Given the description of an element on the screen output the (x, y) to click on. 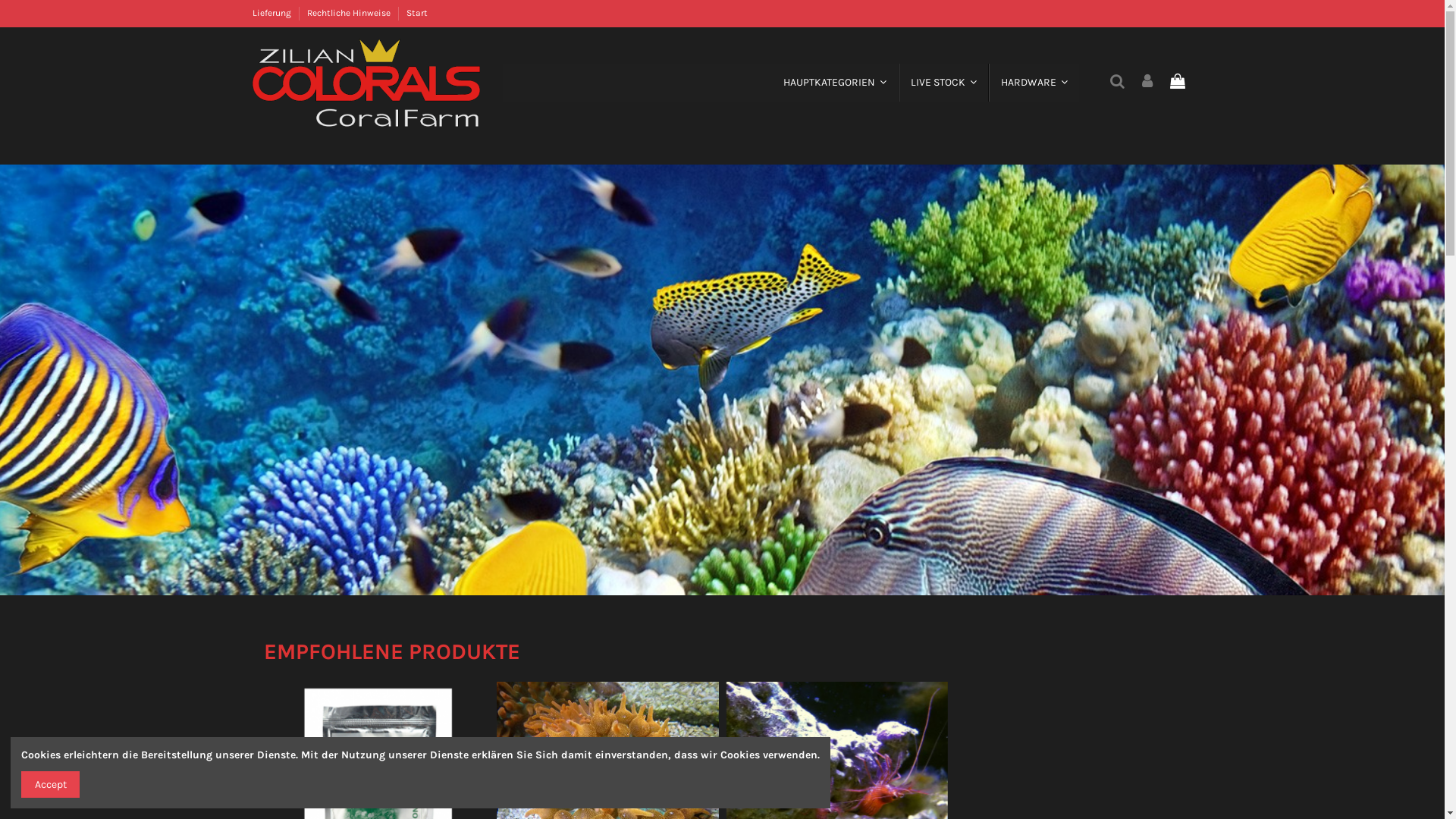
Lieferung Element type: text (271, 12)
Accept Element type: text (50, 784)
LIVE STOCK Element type: text (942, 82)
HARDWARE Element type: text (1033, 82)
Anmelden zu Ihrem Kundenbereich Element type: hover (1147, 82)
Rechtliche Hinweise Element type: text (349, 12)
Start Element type: text (416, 12)
HAUPTKATEGORIEN Element type: text (834, 82)
